Given the description of an element on the screen output the (x, y) to click on. 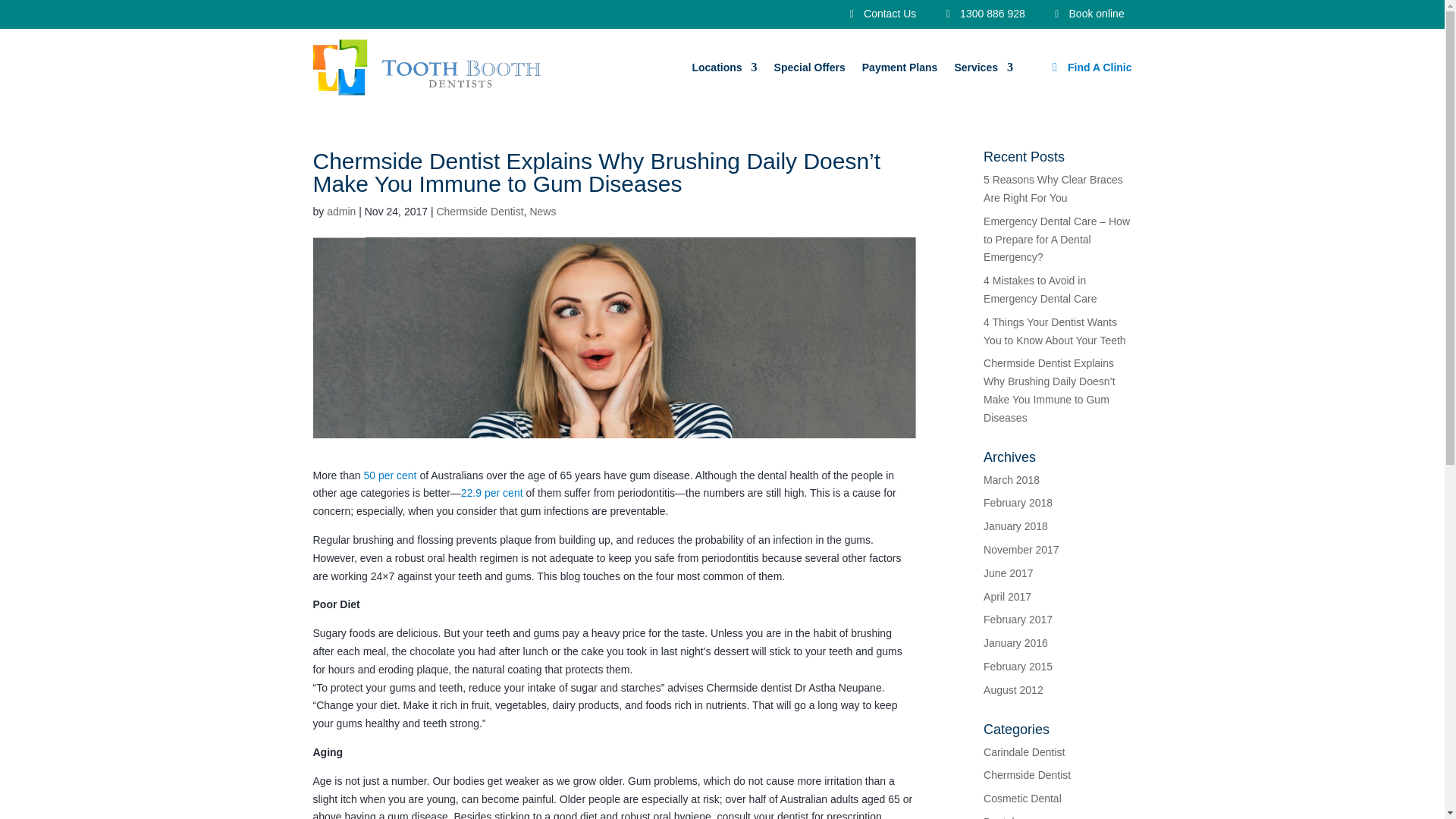
1300 886 928 (985, 12)
Locations (724, 67)
Payment Plans (899, 67)
Find A Clinic (1099, 67)
Services (983, 67)
Contact Us (883, 12)
Special Offers (809, 67)
Book online (1090, 14)
Posts by admin (340, 211)
